Given the description of an element on the screen output the (x, y) to click on. 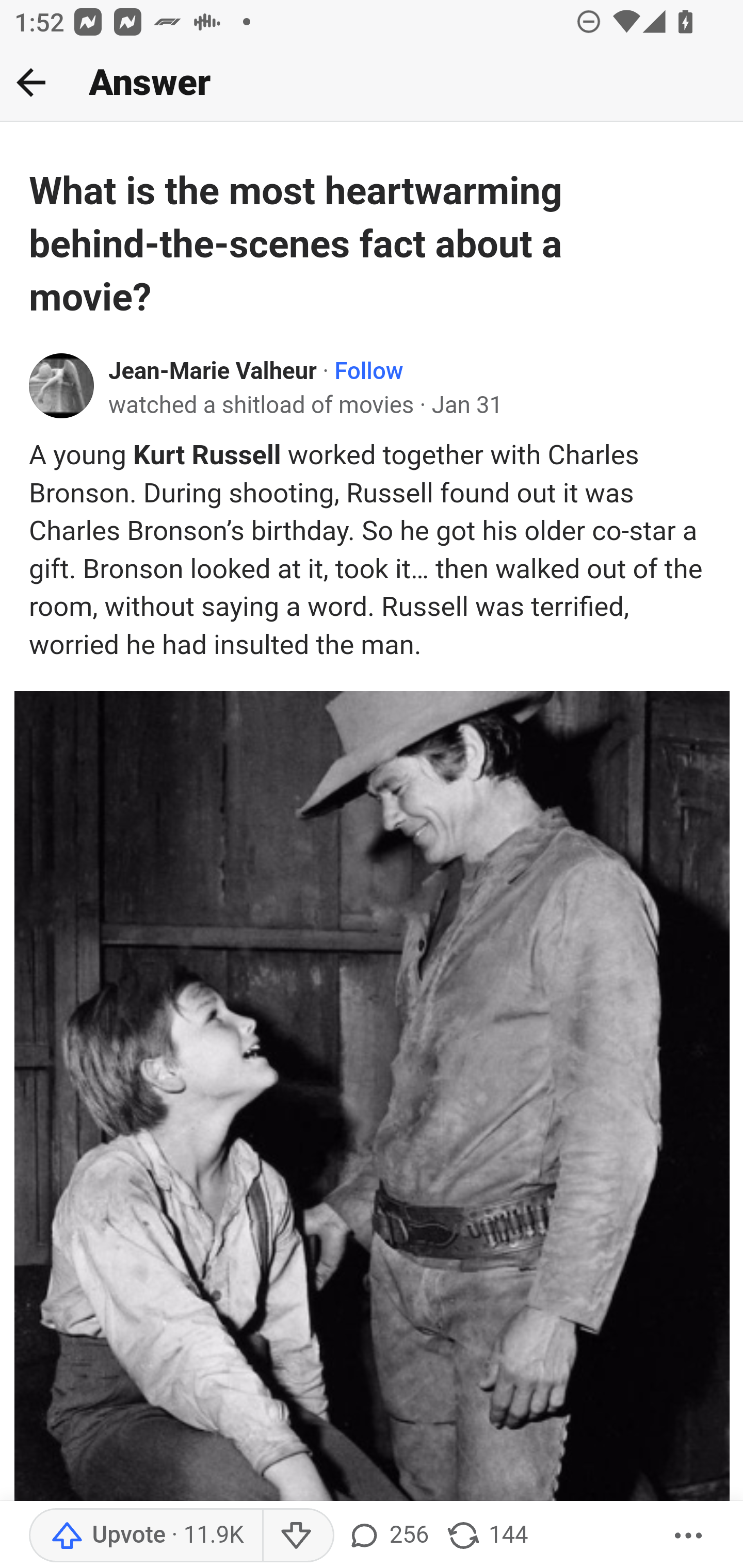
Back (30, 82)
Profile photo for Jean-Marie Valheur (61, 385)
Jean-Marie Valheur (213, 371)
Follow (368, 371)
Jan 31 (466, 404)
Upvote (145, 1535)
Downvote (298, 1535)
256 comments (386, 1535)
144 shares (487, 1535)
More (688, 1535)
